Given the description of an element on the screen output the (x, y) to click on. 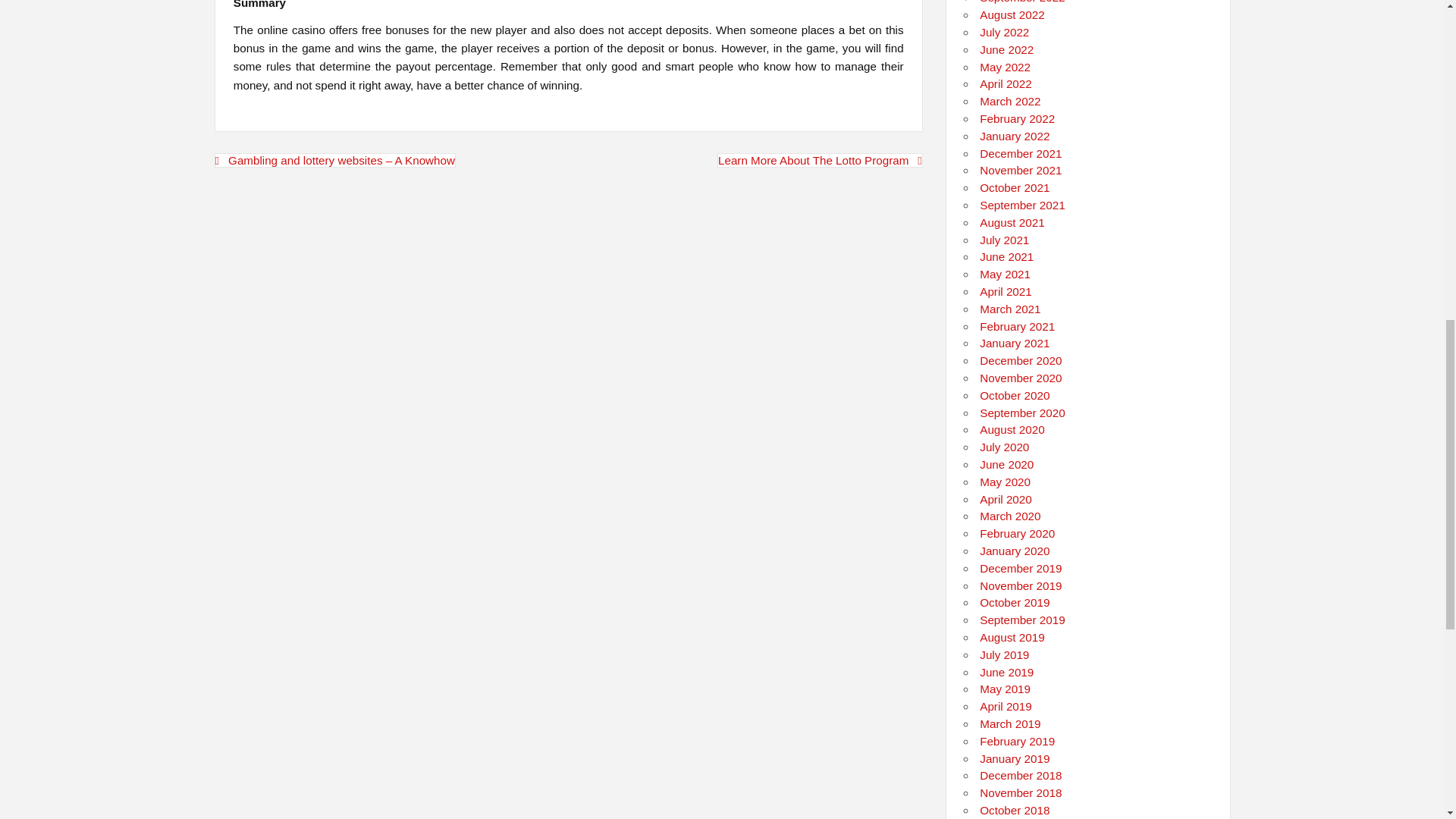
April 2022 (1004, 83)
June 2022 (1006, 49)
August 2022 (1011, 14)
May 2022 (1004, 66)
July 2022 (1004, 31)
September 2022 (1021, 2)
Learn More About The Lotto Program (820, 160)
